Given the description of an element on the screen output the (x, y) to click on. 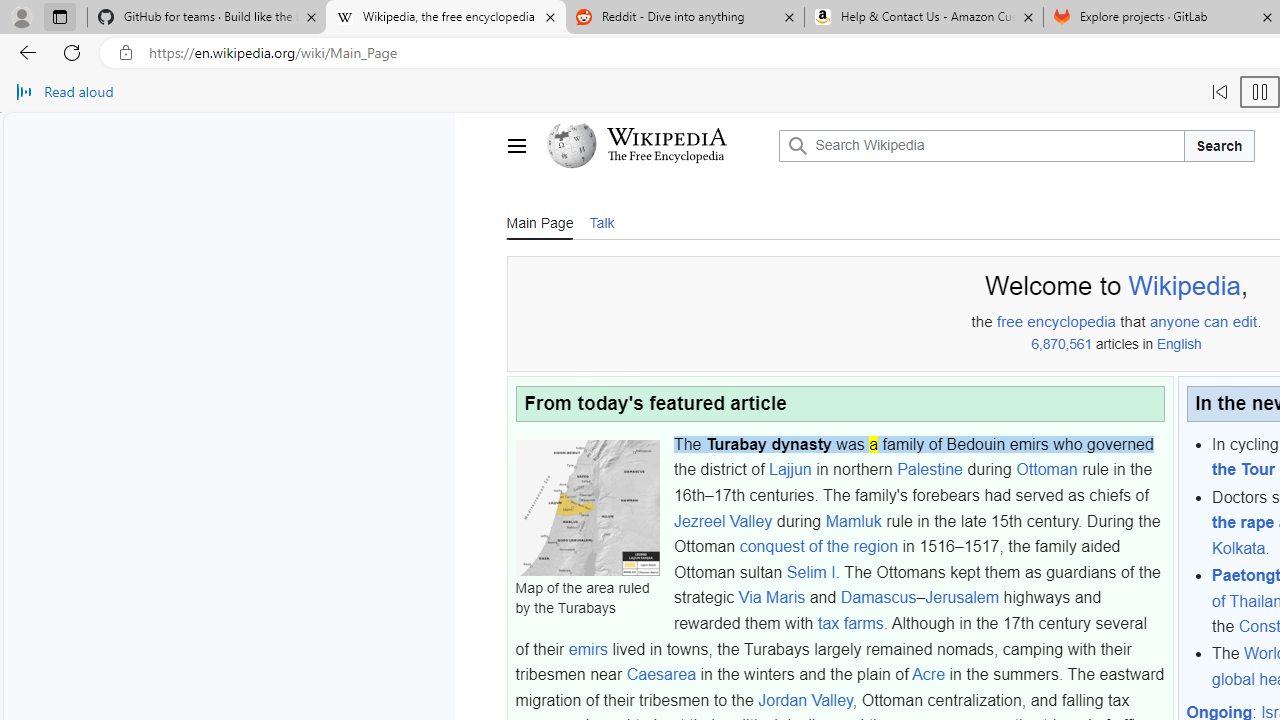
Search Wikipedia (981, 146)
Wikipedia, the free encyclopedia (445, 17)
Caesarea (661, 675)
free (1009, 322)
Palestine (929, 469)
Bedouin (975, 443)
Talk (601, 221)
conquest of the region (818, 546)
anyone can edit (1203, 322)
Main Page (539, 221)
Map of the area ruled by the Turabays (587, 507)
